Given the description of an element on the screen output the (x, y) to click on. 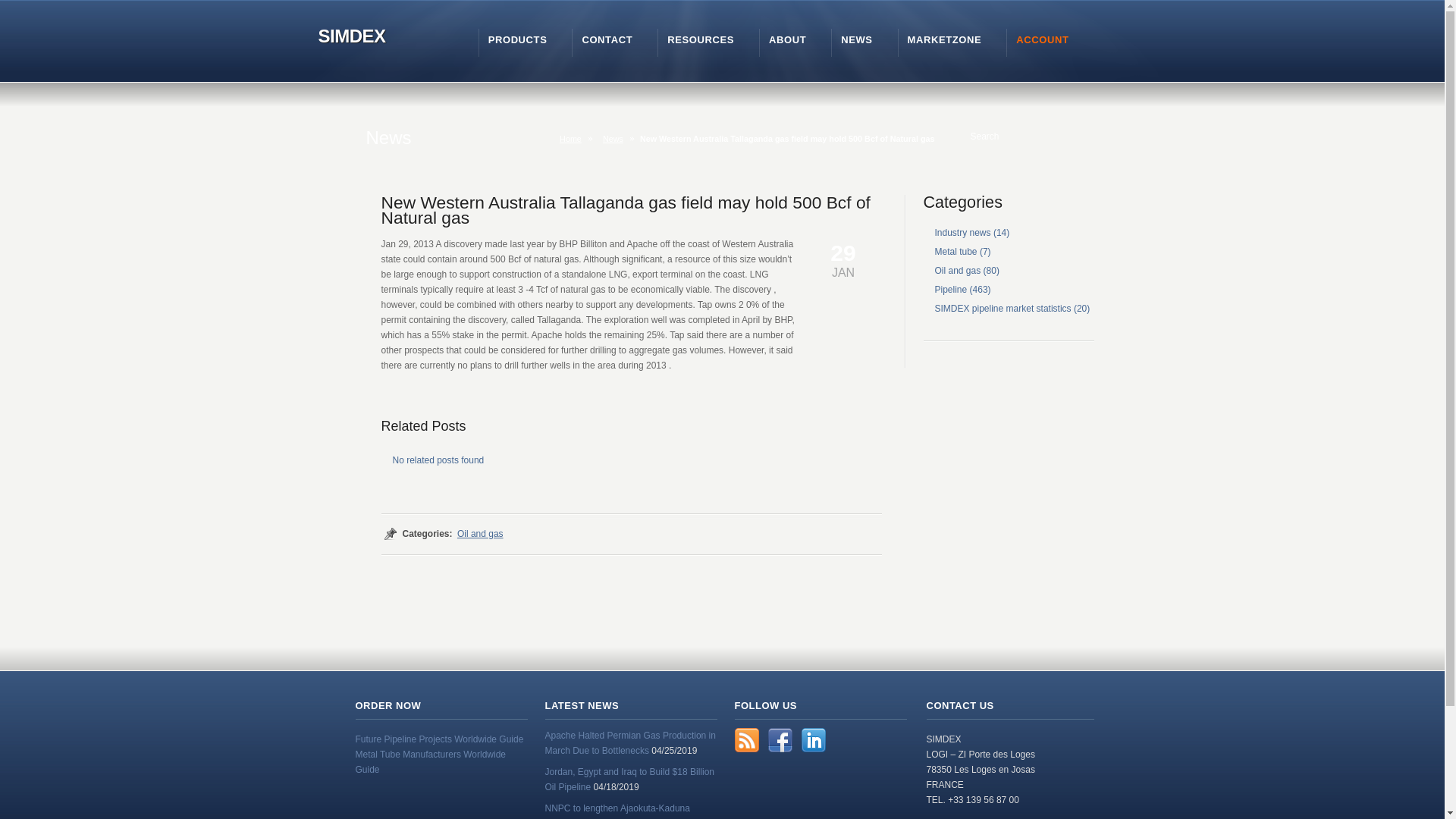
NNPC to lengthen Ajaokuta-Kaduna pipeline to Algeria (616, 811)
CONTACT (605, 39)
RSS (745, 740)
ABOUT (787, 39)
NEWS (856, 39)
SIMDEX (349, 37)
RESOURCES (699, 39)
Metal Tube Manufacturers Worldwide Guide (430, 761)
ACCOUNT (1042, 39)
Oil and gas (956, 270)
